Given the description of an element on the screen output the (x, y) to click on. 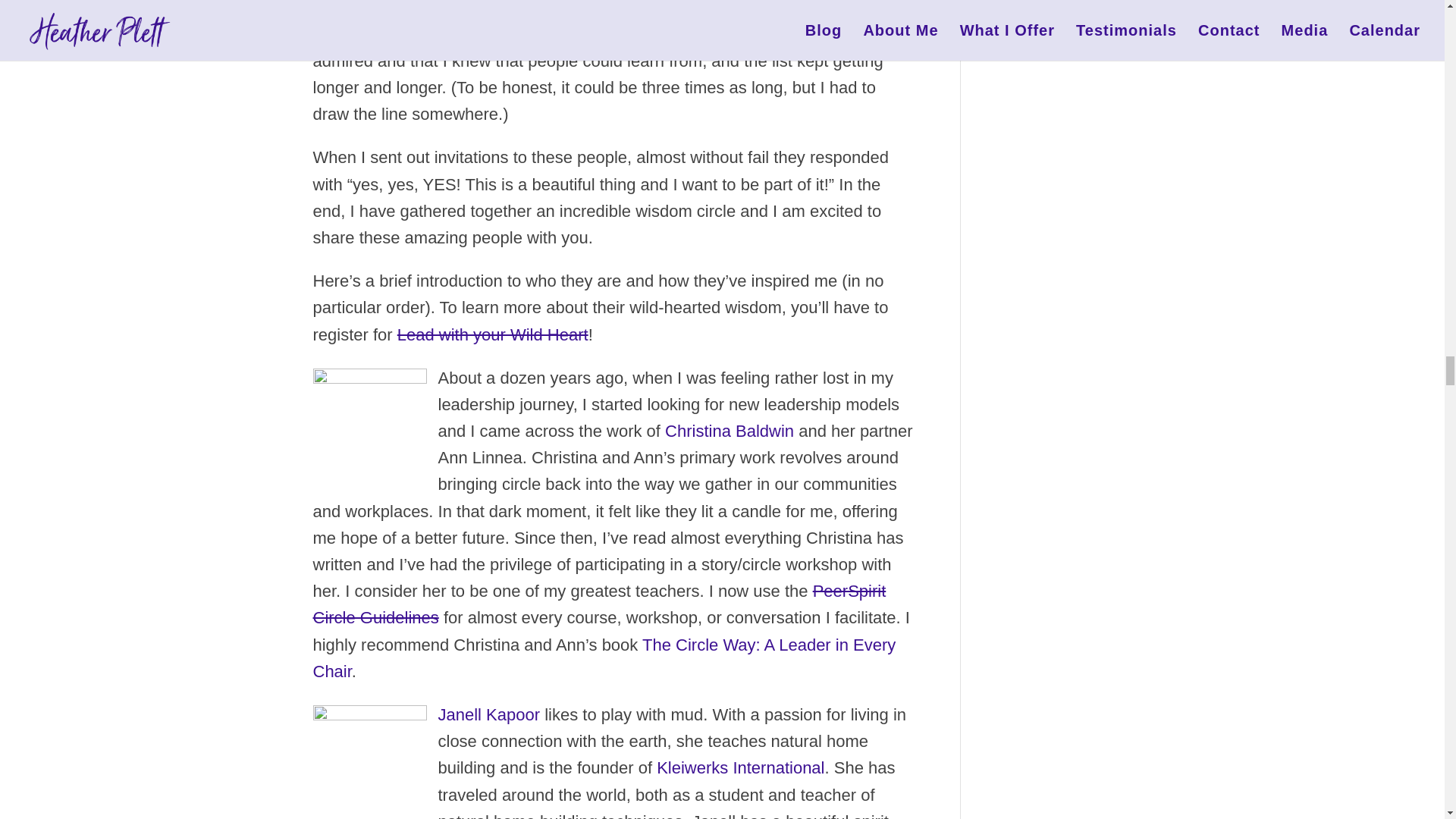
Janell-Kapoor1 (369, 757)
Christina Baldwin (369, 421)
